Given the description of an element on the screen output the (x, y) to click on. 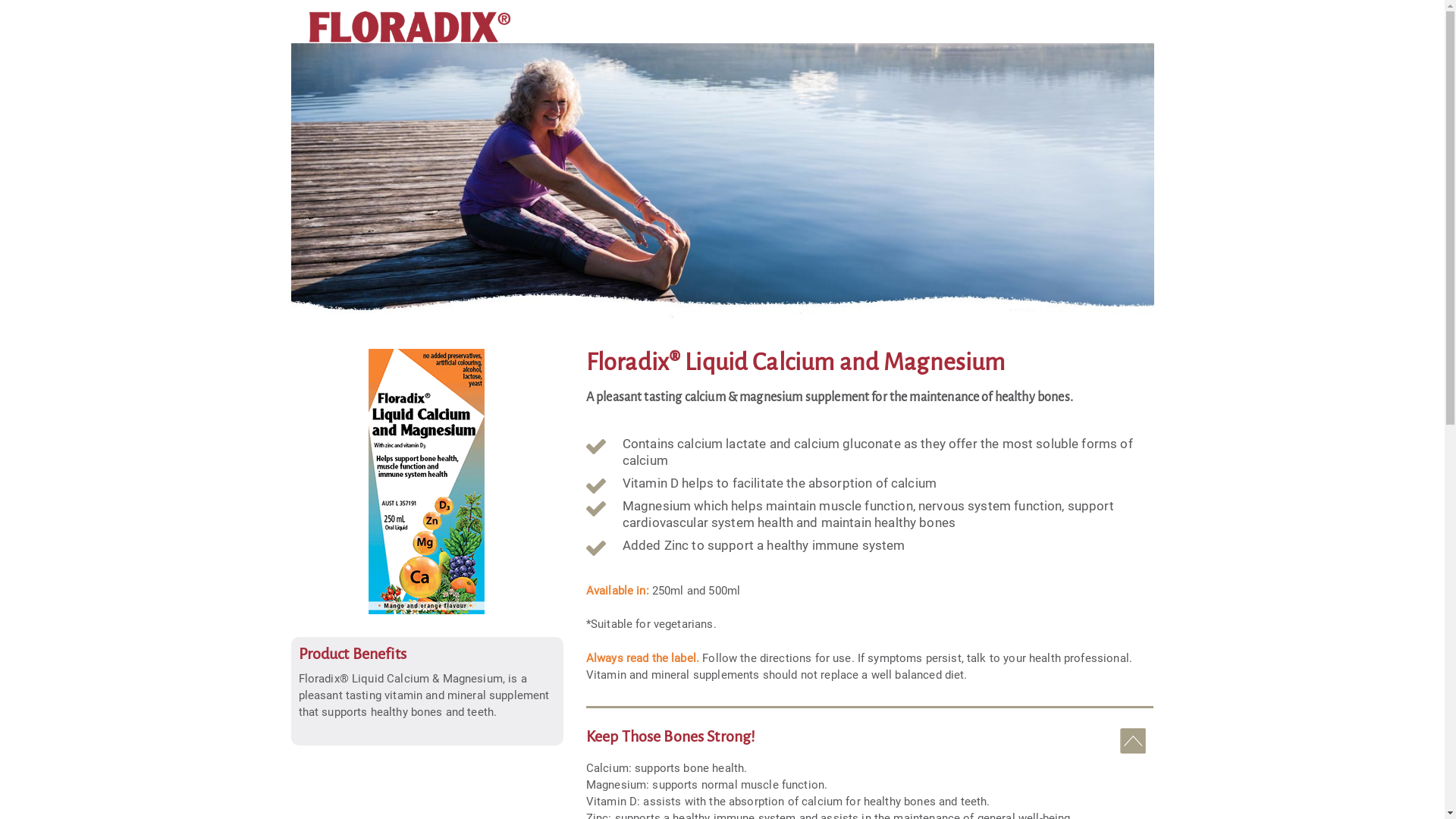
Floradix-Liquid-Calcium-and-Magnesium_Product22 Element type: hover (426, 481)
Floradix-Calcium-and-Magnesium-Tonic Element type: hover (722, 184)
Floradix Element type: hover (409, 25)
